Given the description of an element on the screen output the (x, y) to click on. 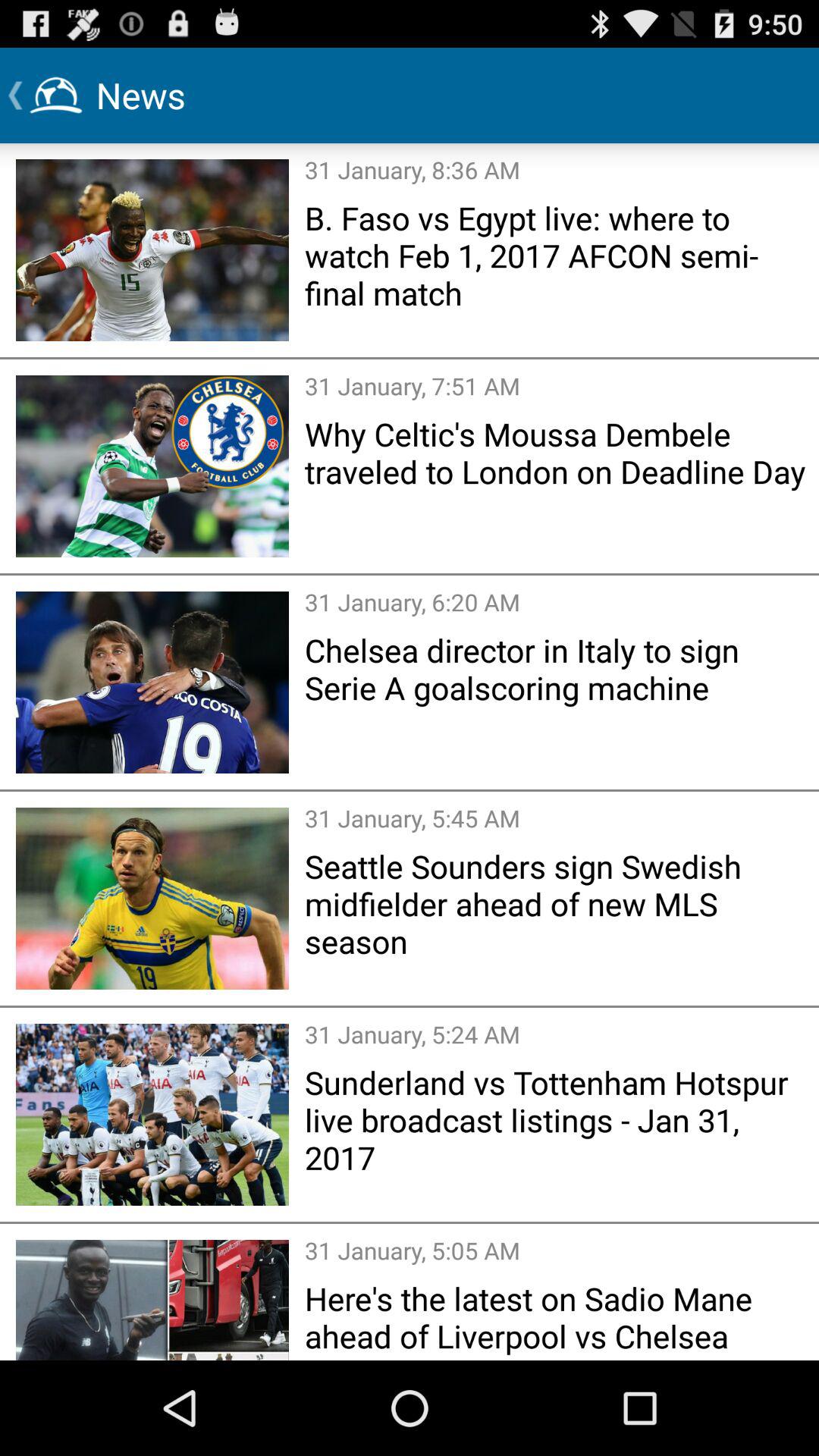
open the seattle sounders sign app (556, 903)
